Given the description of an element on the screen output the (x, y) to click on. 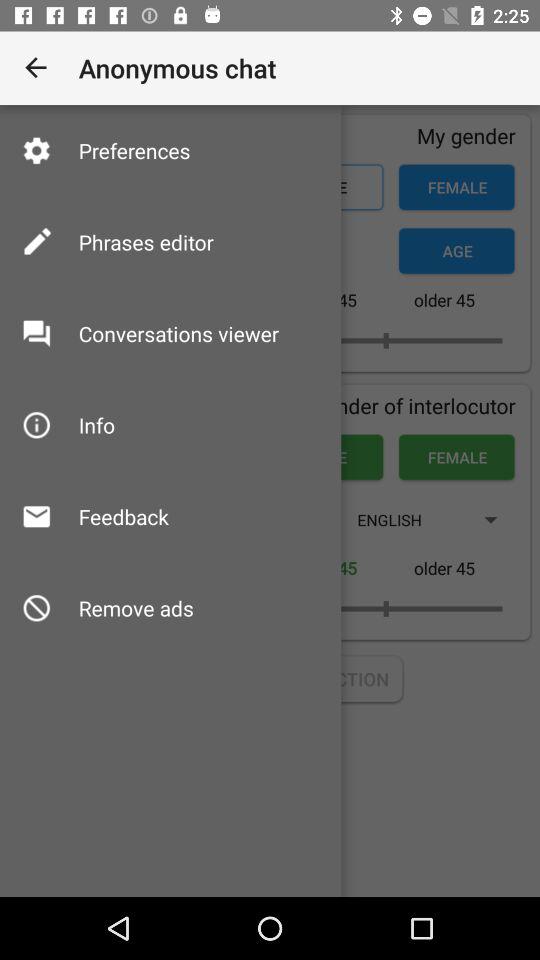
open icon above the no internet connection (135, 607)
